Given the description of an element on the screen output the (x, y) to click on. 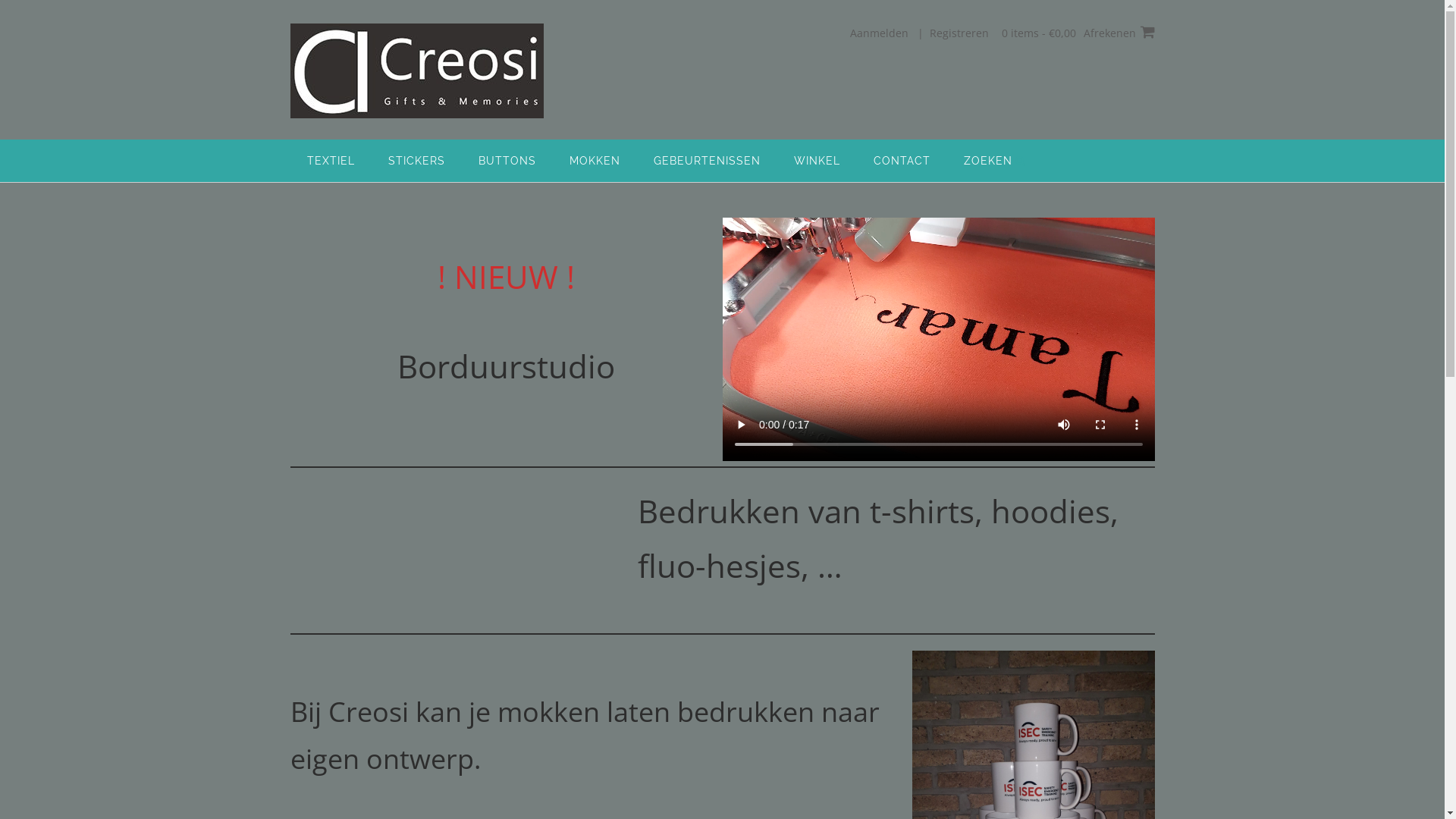
Aanmelden   |  Registreren Element type: text (918, 32)
CONTACT Element type: text (901, 160)
ZOEKEN Element type: text (993, 160)
TEXTIEL Element type: text (329, 160)
STICKERS Element type: text (416, 160)
Creosi - Gifts & Memories Element type: hover (415, 70)
MOKKEN Element type: text (594, 160)
GEBEURTENISSEN Element type: text (707, 160)
BUTTONS Element type: text (506, 160)
WINKEL Element type: text (816, 160)
